Given the description of an element on the screen output the (x, y) to click on. 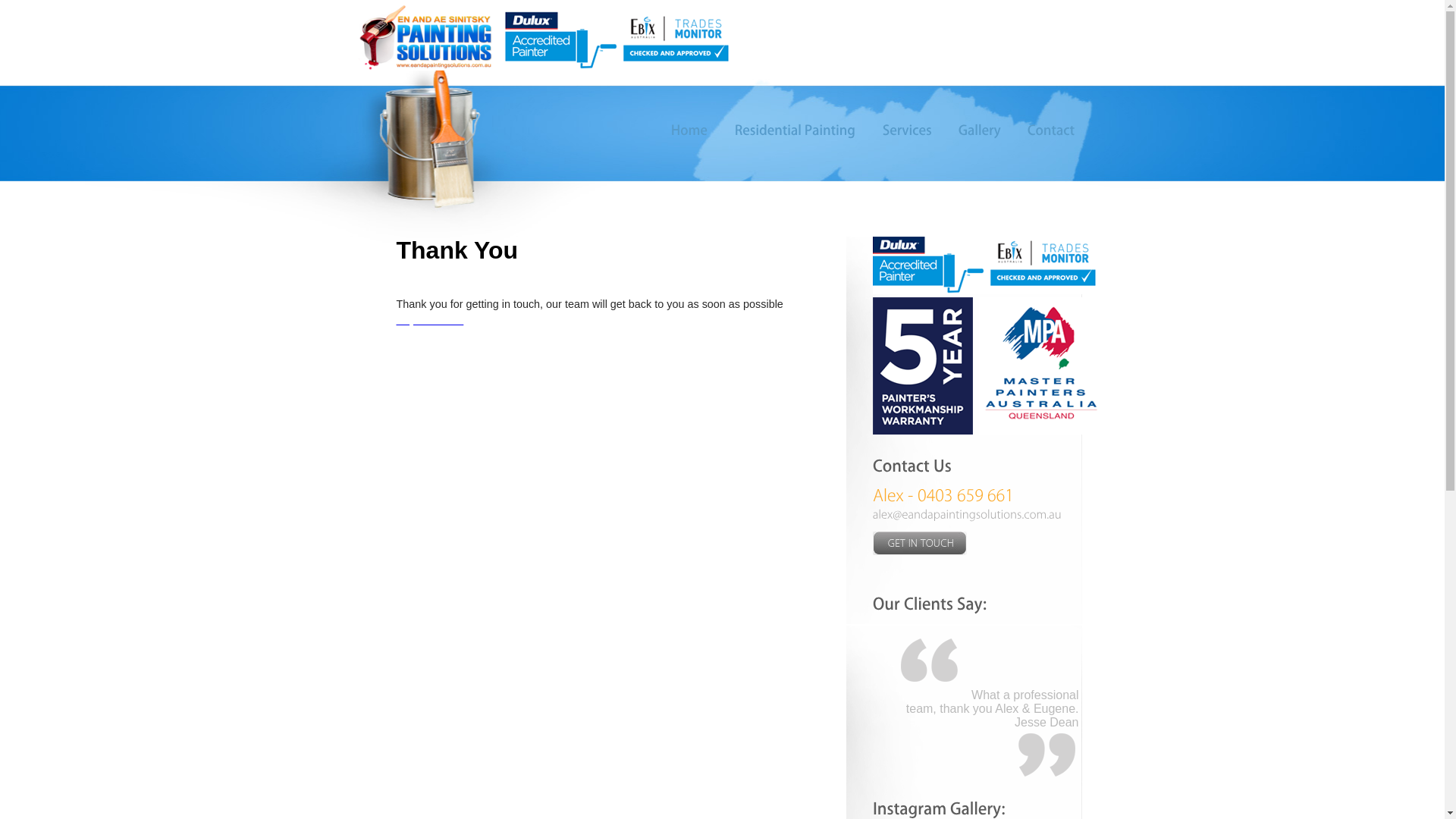
Replica Rolex Element type: text (429, 319)
